Given the description of an element on the screen output the (x, y) to click on. 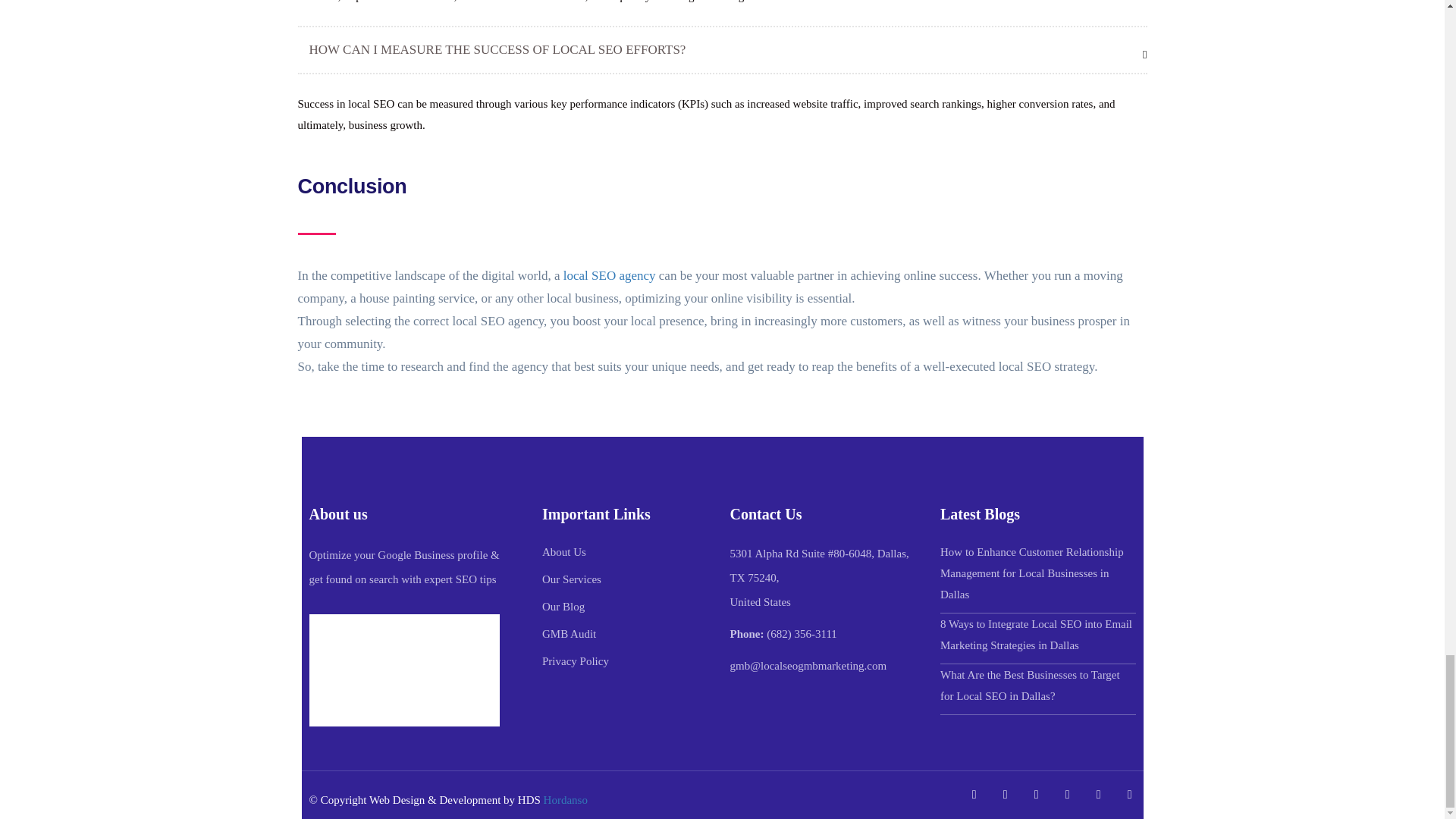
local SEO agency (609, 275)
Our Blog (563, 606)
About Us (563, 551)
Privacy Policy (574, 660)
Our Services (571, 578)
GMB Audit (568, 633)
